Given the description of an element on the screen output the (x, y) to click on. 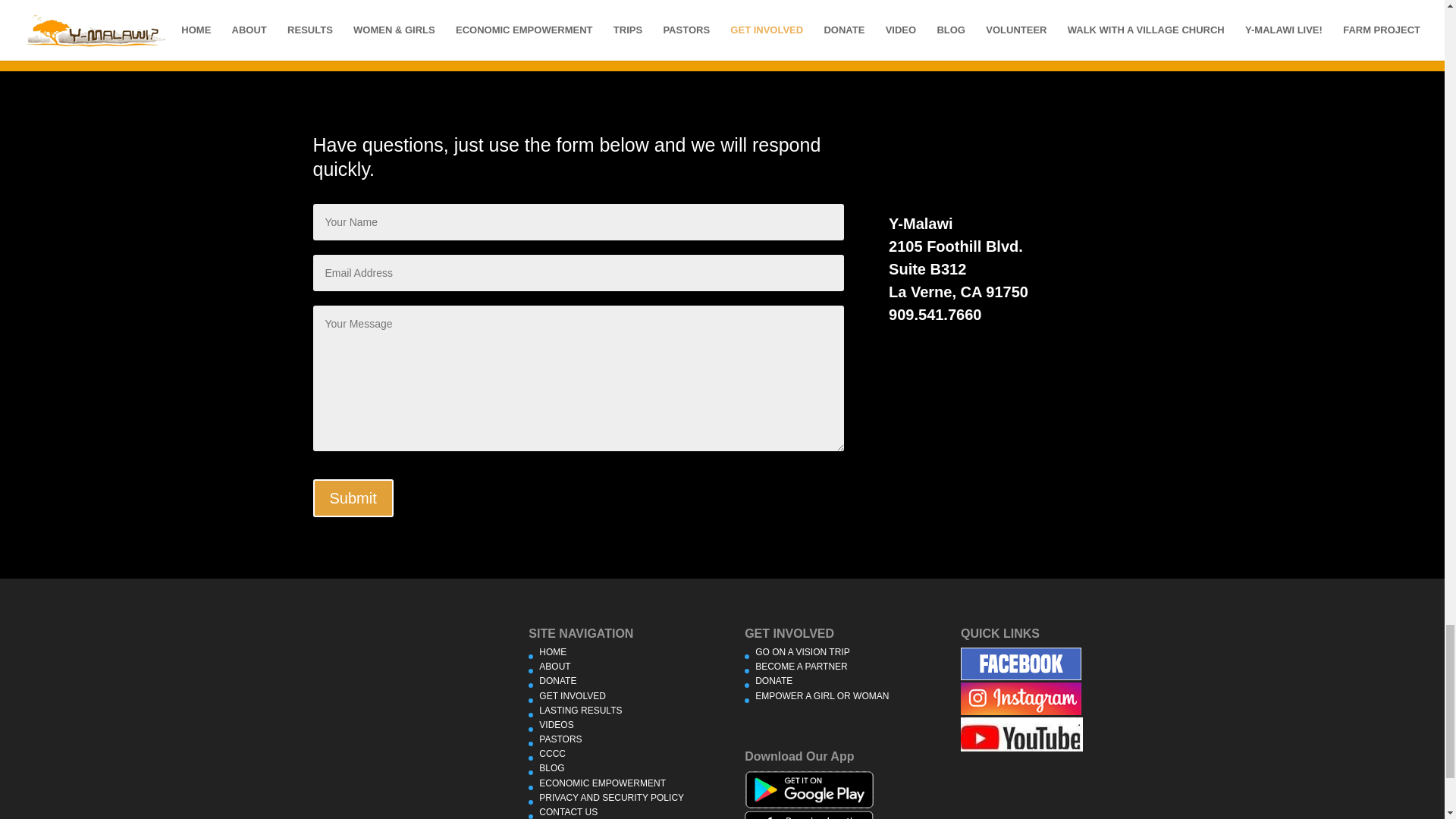
advertisement (1020, 663)
advertisement (808, 789)
Submit (353, 497)
advertisement (1021, 734)
advertisement (808, 815)
advertisement (1020, 698)
